Given the description of an element on the screen output the (x, y) to click on. 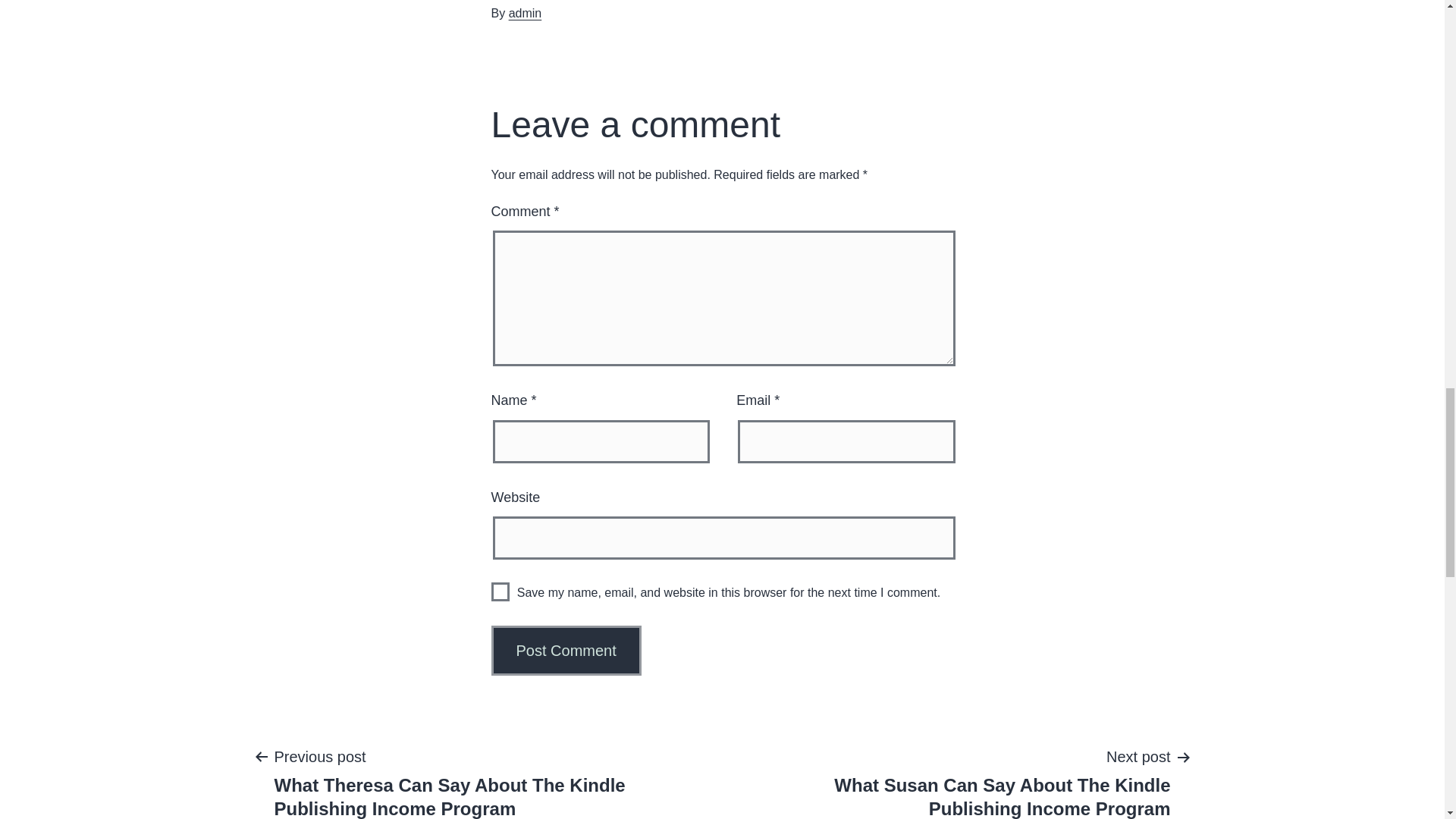
yes (500, 591)
Post Comment (567, 650)
Post Comment (567, 650)
admin (524, 12)
